Given the description of an element on the screen output the (x, y) to click on. 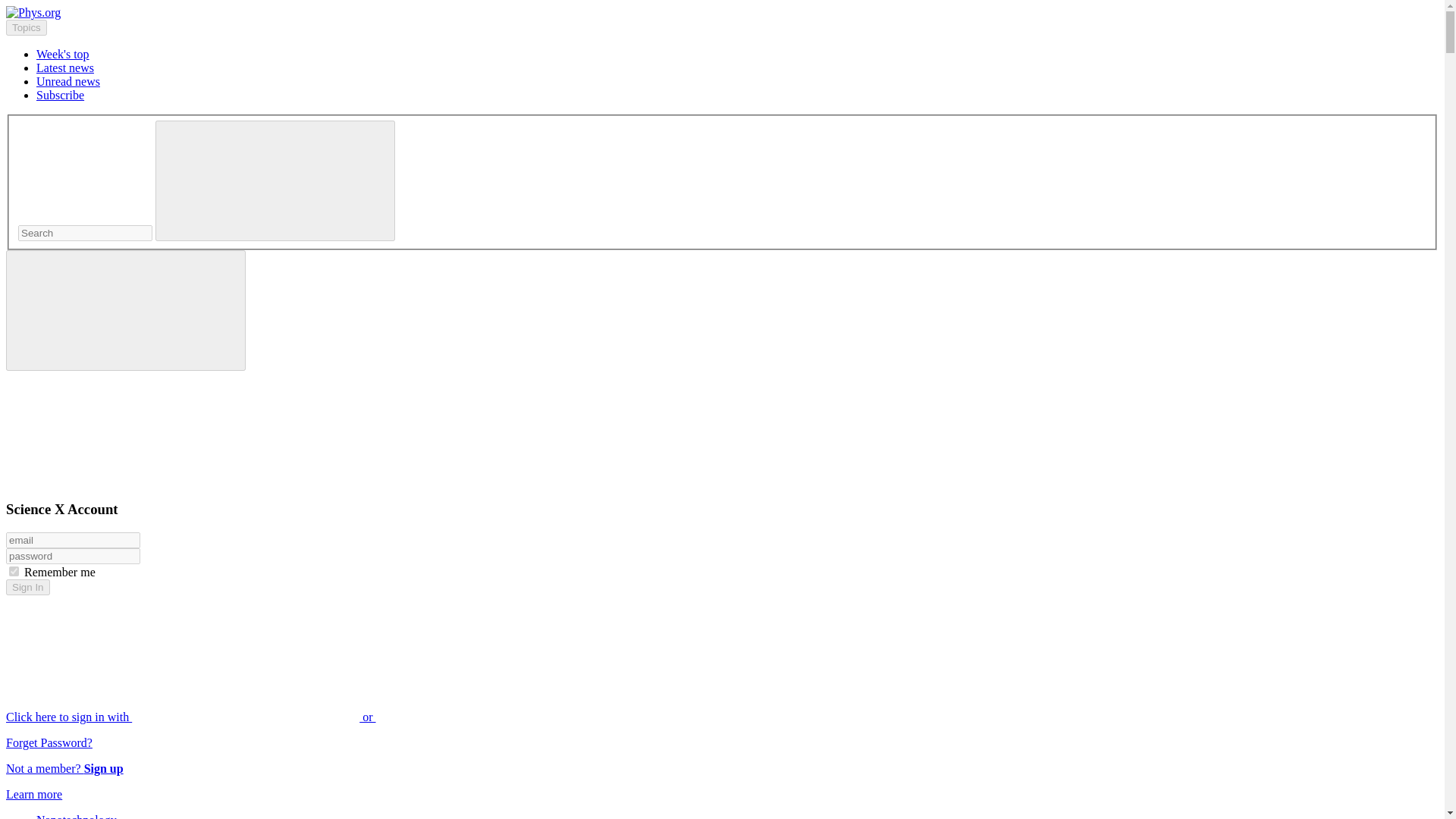
on (13, 571)
Topics (25, 27)
Sign In (27, 587)
Latest news (65, 67)
Nanotechnology (76, 816)
Click here to sign in with or (304, 716)
Not a member? Sign up (64, 768)
Unread news (68, 81)
Subscribe (60, 94)
Learn more (33, 793)
Forget Password? (49, 742)
Week's top (62, 53)
